Given the description of an element on the screen output the (x, y) to click on. 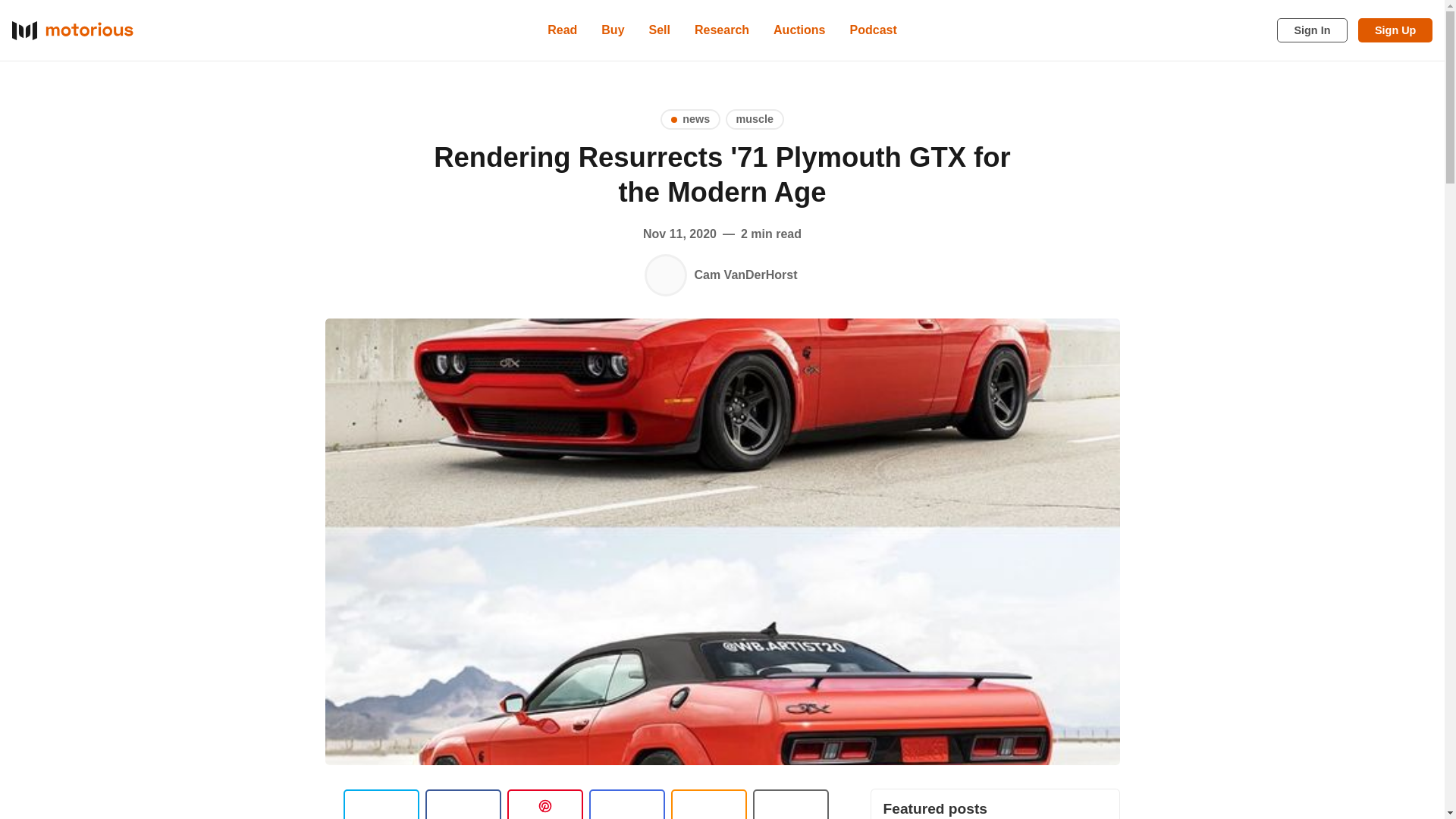
news (690, 118)
Cam VanDerHorst (665, 275)
Research (721, 29)
Buy (612, 29)
Share on Linkedin (544, 804)
news (690, 118)
Podcast (873, 29)
Copy to clipboard (707, 804)
Sell (659, 29)
Auctions (799, 29)
Share on Facebook (462, 804)
Share on Twitter (380, 804)
Share by email (625, 804)
Sign Up (1395, 30)
muscle (754, 118)
